Given the description of an element on the screen output the (x, y) to click on. 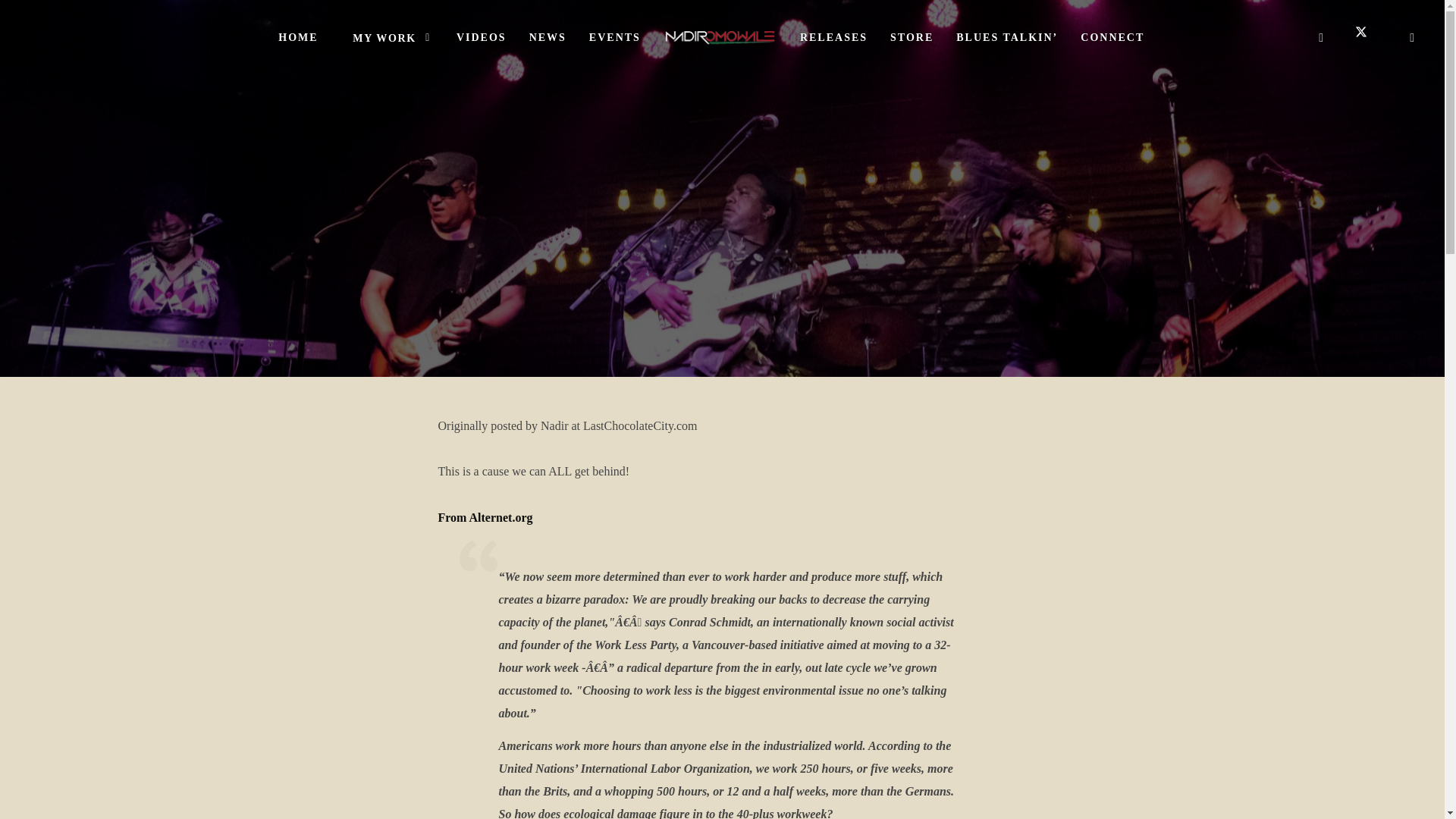
VIDEOS (481, 38)
VIDEOS (481, 38)
facebook (1320, 37)
EVENTS (615, 38)
EVENTS (615, 38)
MY WORK (387, 38)
RELEASES (834, 38)
instagram (1412, 37)
CONNECT (1112, 38)
twitter (1366, 37)
